Given the description of an element on the screen output the (x, y) to click on. 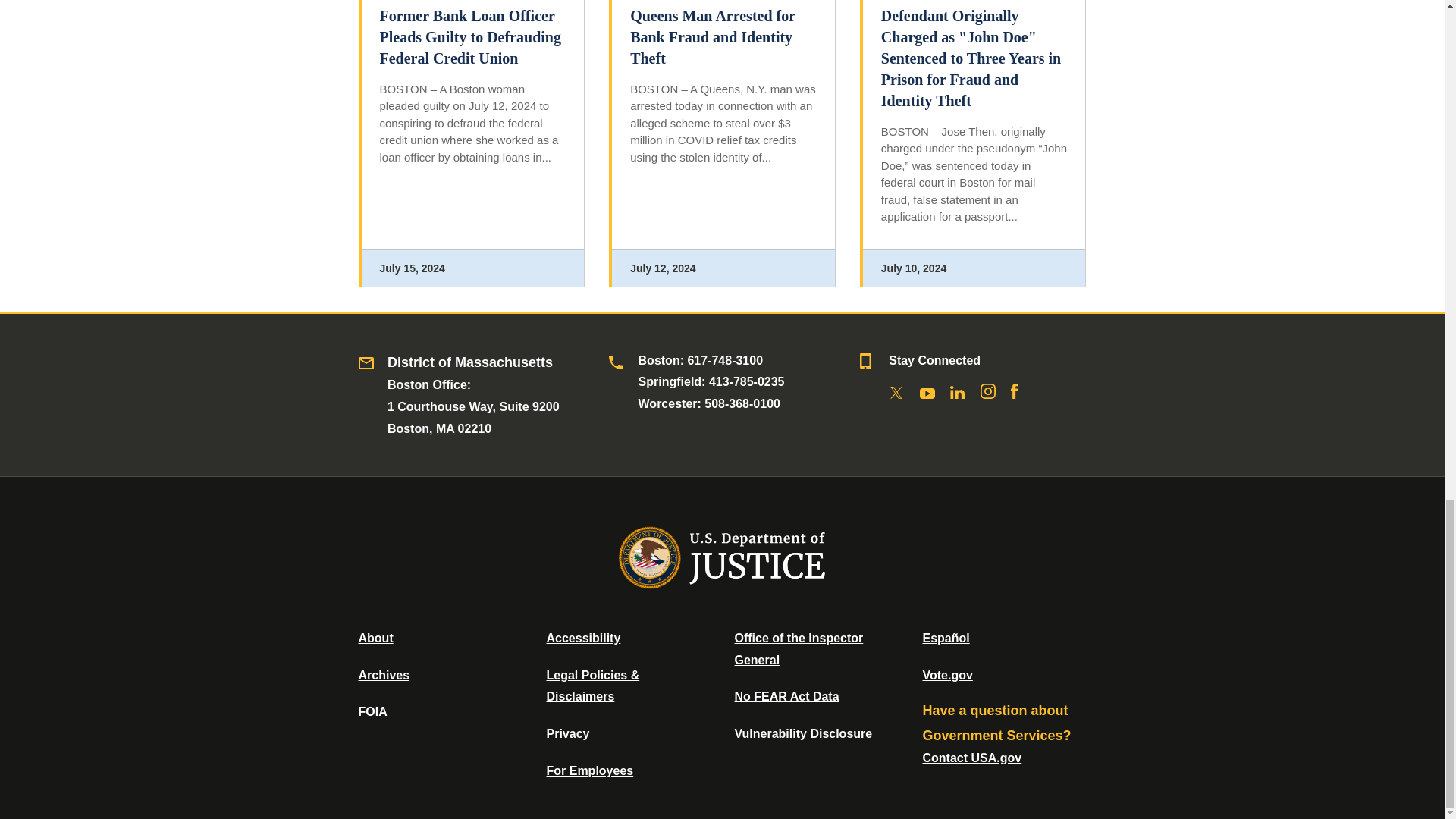
Office of Information Policy (372, 711)
Department of Justice Archive (383, 675)
Legal Policies and Disclaimers (592, 686)
Accessibility Statement (583, 637)
About DOJ (375, 637)
For Employees (589, 770)
Data Posted Pursuant To The No Fear Act (785, 696)
